Given the description of an element on the screen output the (x, y) to click on. 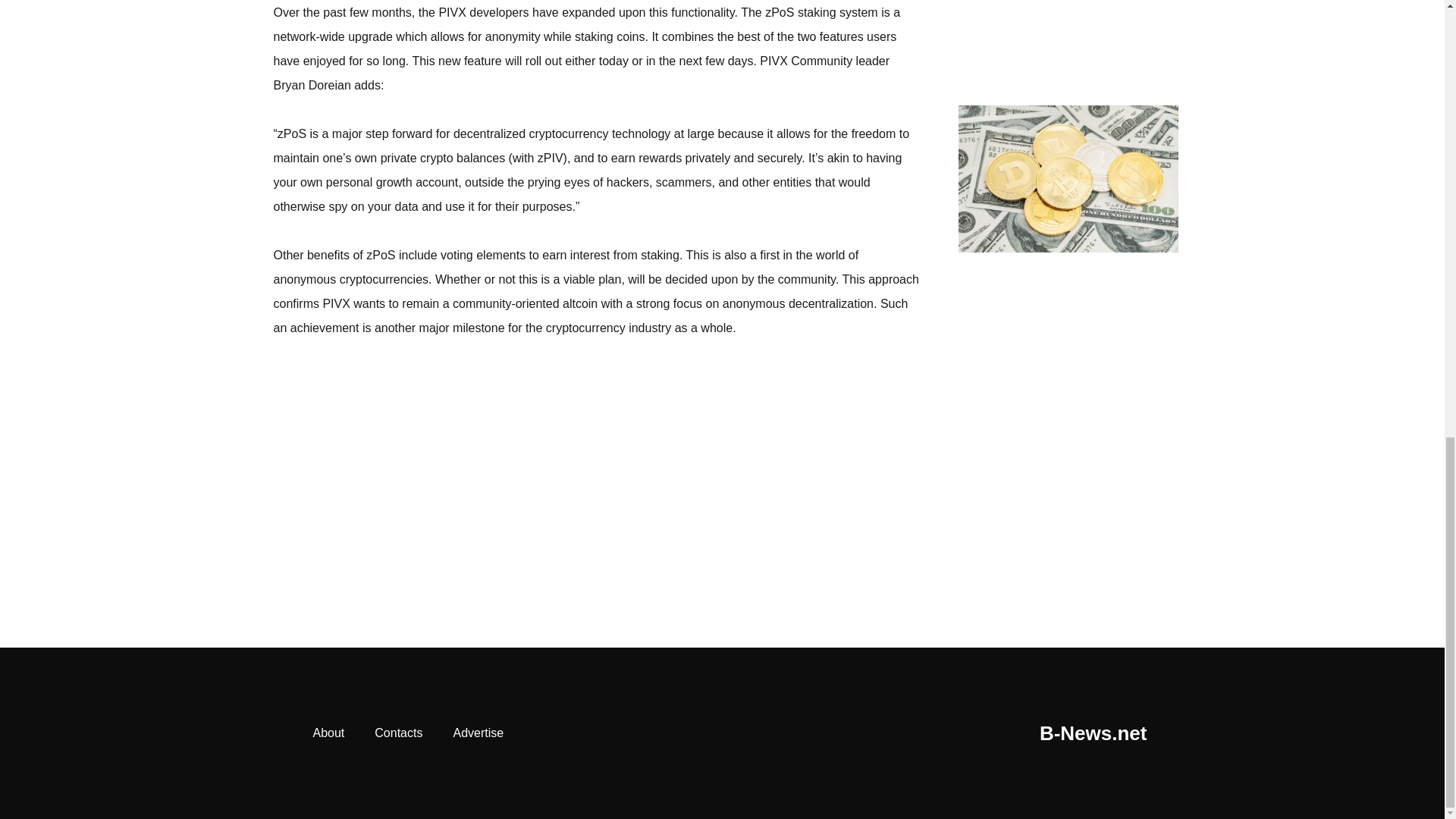
About (328, 733)
Advertise (478, 733)
Contacts (398, 733)
